Given the description of an element on the screen output the (x, y) to click on. 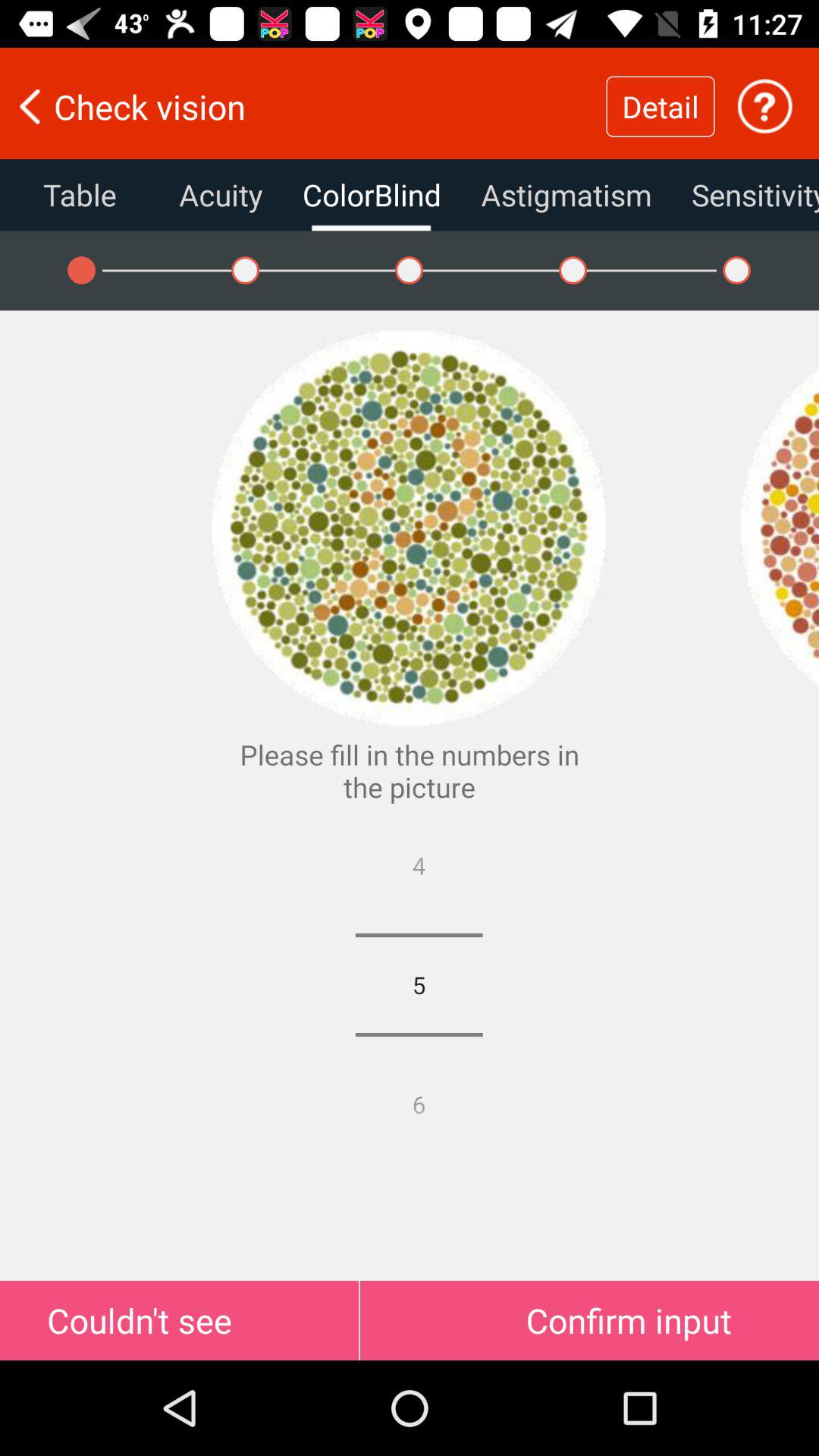
picture page (764, 106)
